Given the description of an element on the screen output the (x, y) to click on. 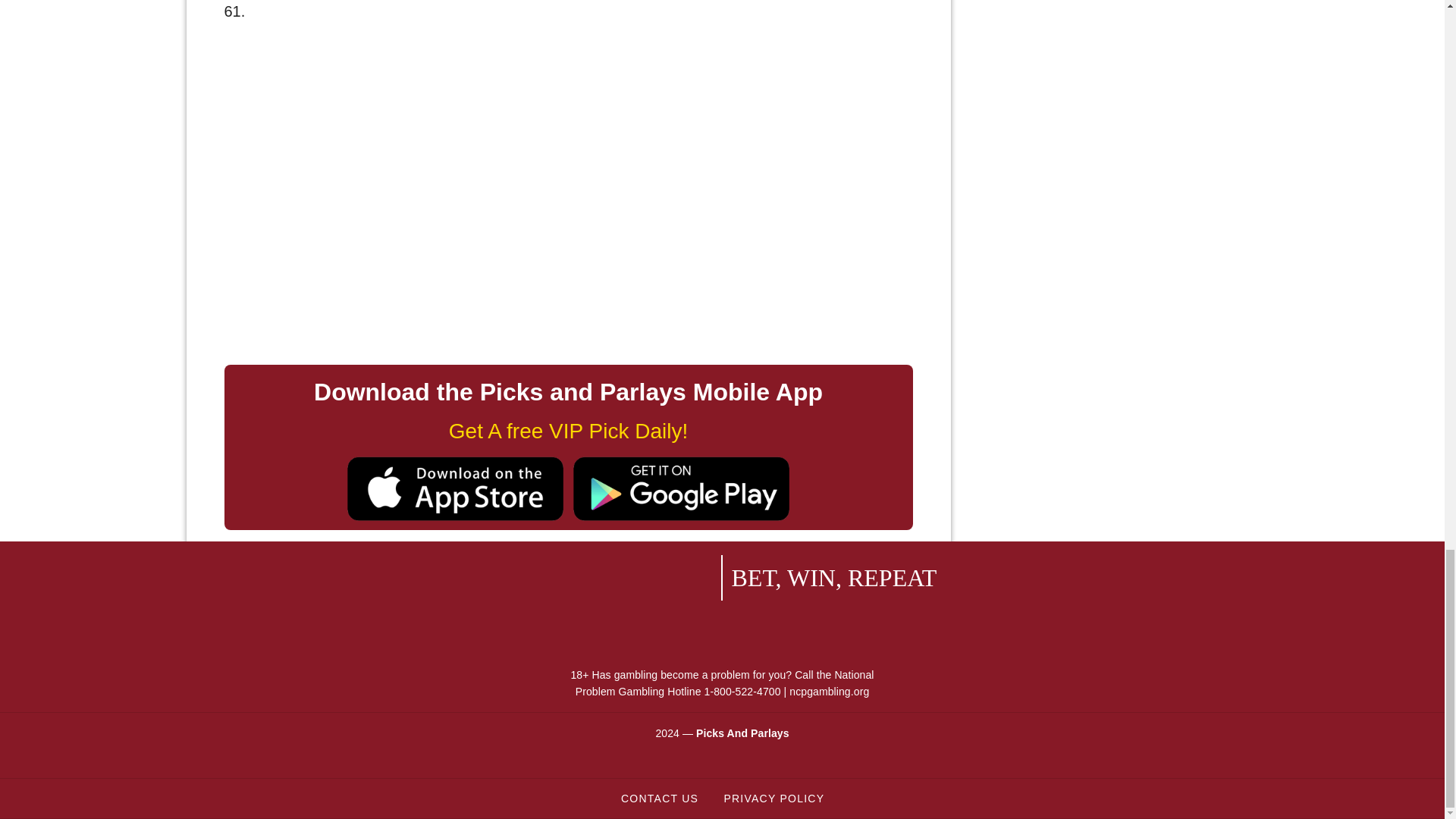
PRIVACY POLICY (772, 798)
CONTACT US (659, 798)
